Given the description of an element on the screen output the (x, y) to click on. 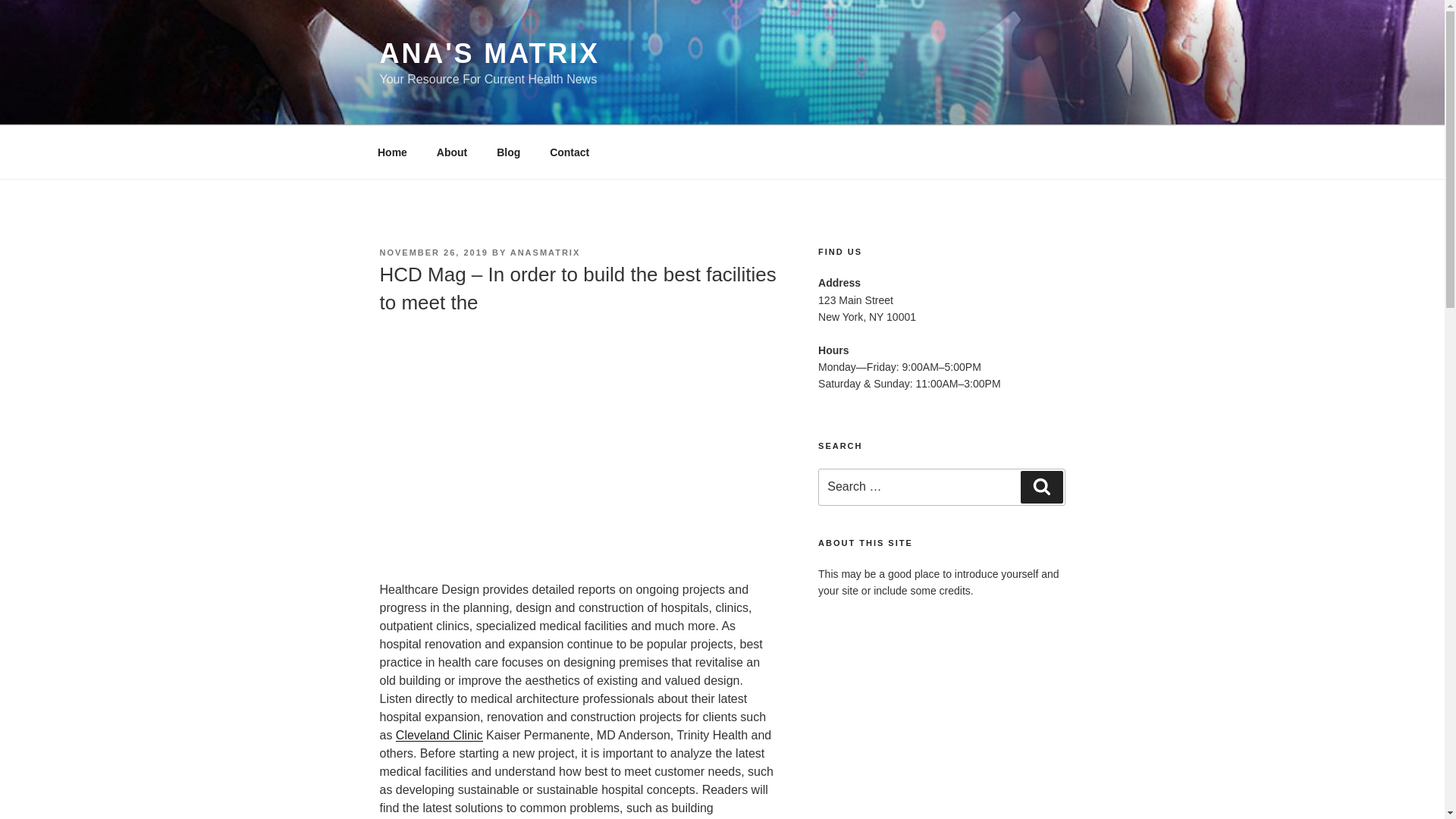
Search (1041, 486)
About (451, 151)
Home (392, 151)
NOVEMBER 26, 2019 (432, 252)
Contact (569, 151)
ANASMATRIX (545, 252)
HCD Mag - In order to build the best facilities to meet the (577, 445)
Blog (508, 151)
Cleveland Clinic (439, 735)
